Given the description of an element on the screen output the (x, y) to click on. 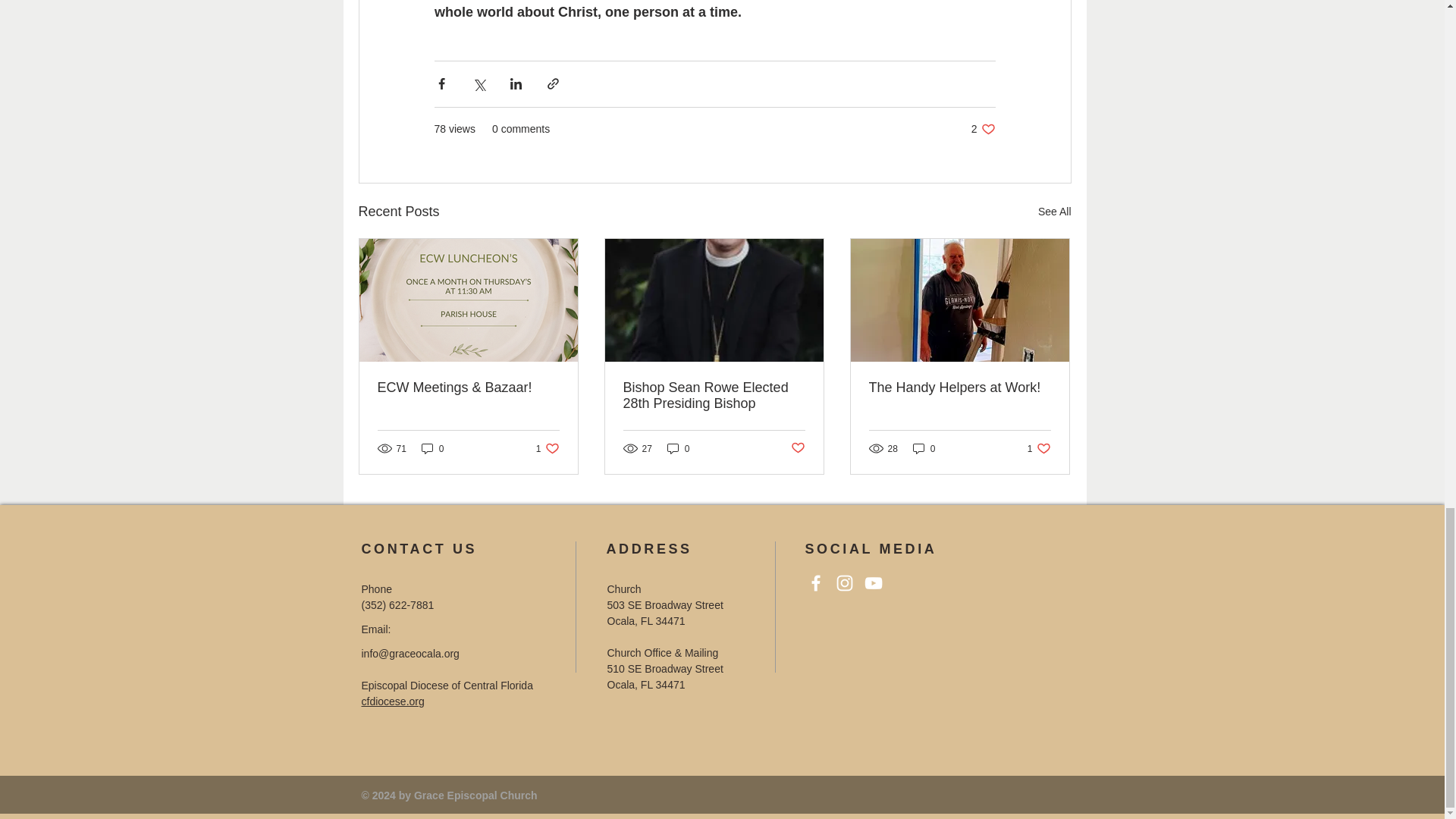
0 (432, 448)
See All (547, 448)
